Given the description of an element on the screen output the (x, y) to click on. 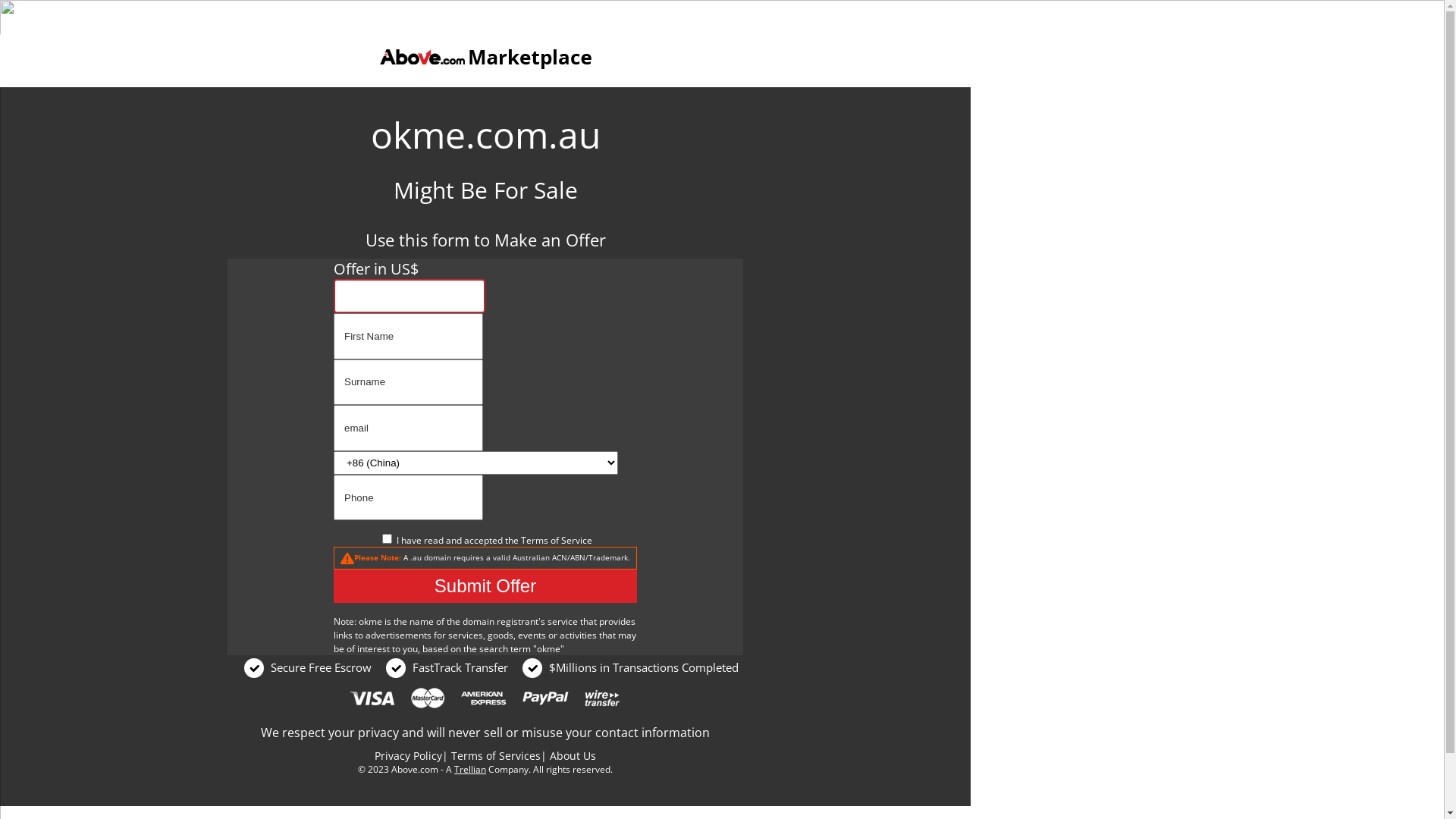
Terms Element type: text (533, 539)
About Us Element type: text (572, 755)
Privacy Policy Element type: text (408, 755)
Terms of Services Element type: text (495, 755)
Submit Offer Element type: text (485, 585)
Trellian Element type: text (470, 768)
